Given the description of an element on the screen output the (x, y) to click on. 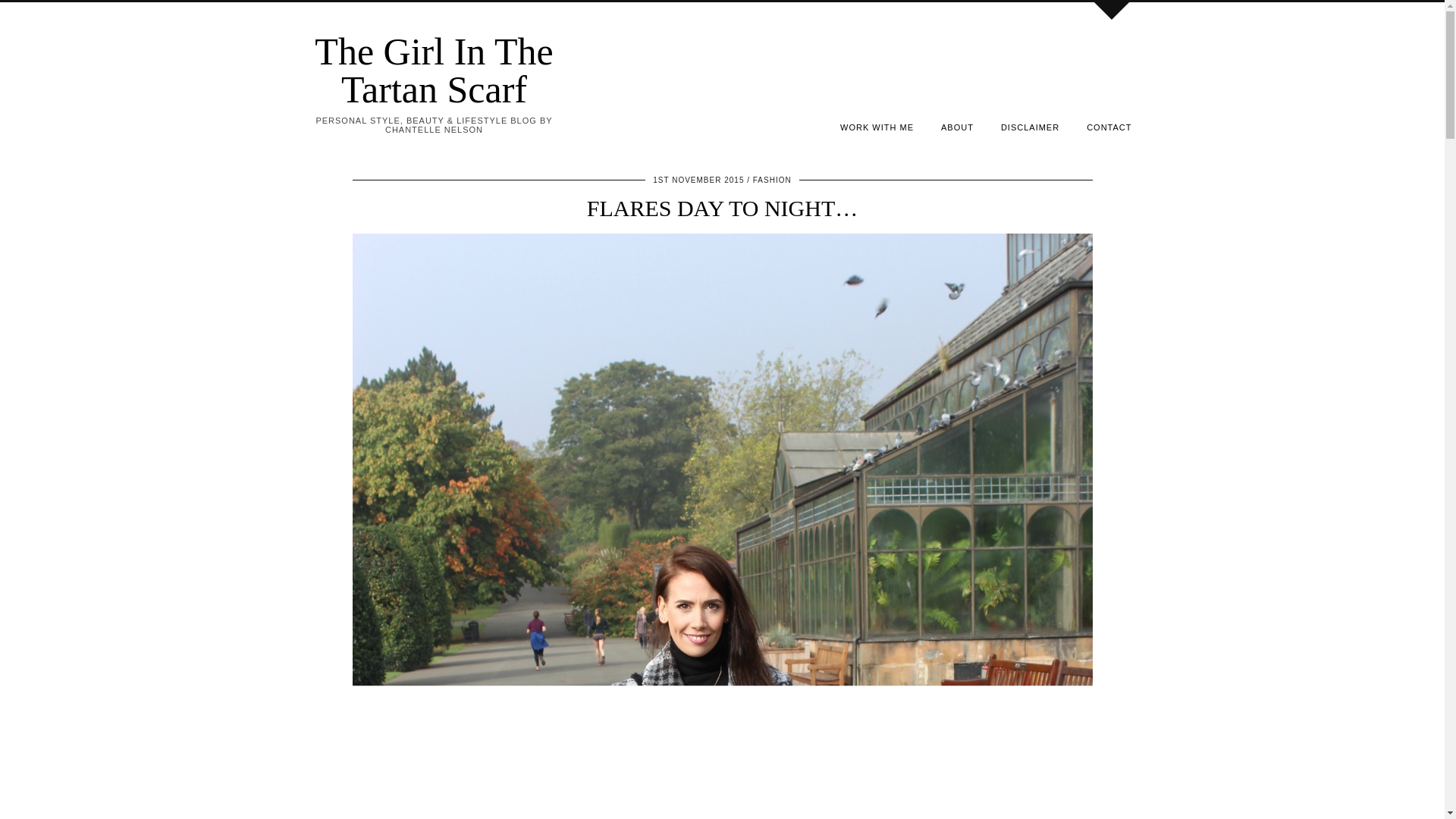
FASHION (772, 180)
The Girl In The Tartan Scarf (433, 70)
DISCLAIMER (1030, 127)
CONTACT (1108, 127)
WORK WITH ME (877, 127)
The Girl In The Tartan Scarf (433, 70)
ABOUT (957, 127)
